Given the description of an element on the screen output the (x, y) to click on. 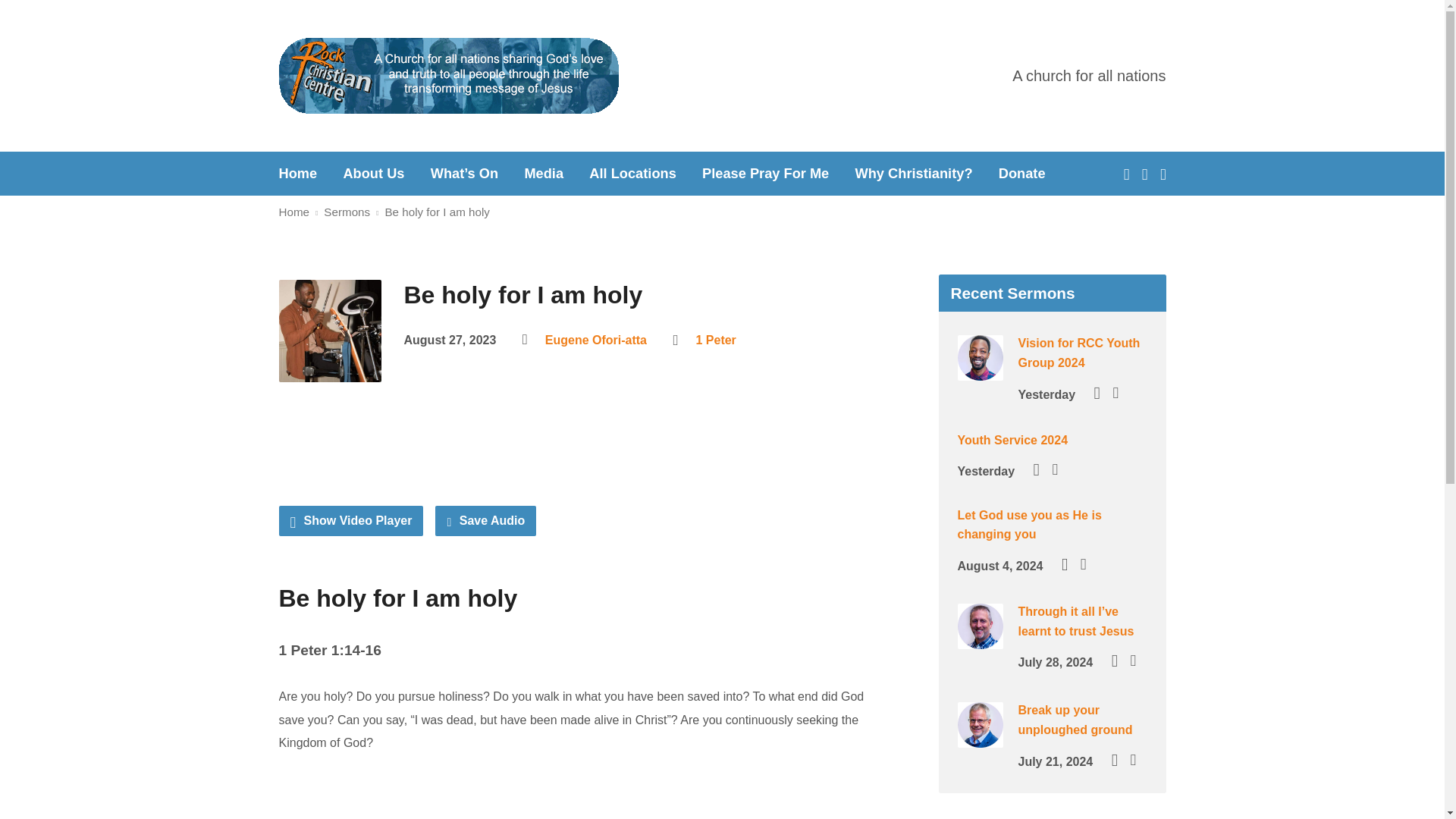
Be holy for I am holy (436, 211)
1 Peter (715, 339)
Home (294, 211)
Please Pray For Me (764, 173)
Let God use you as He is changing you (1028, 524)
Home (298, 173)
Vision for RCC Youth Group 2024 (1078, 352)
Sermons (346, 211)
Download Audio (485, 521)
Eugene Ofori-atta (595, 339)
